Given the description of an element on the screen output the (x, y) to click on. 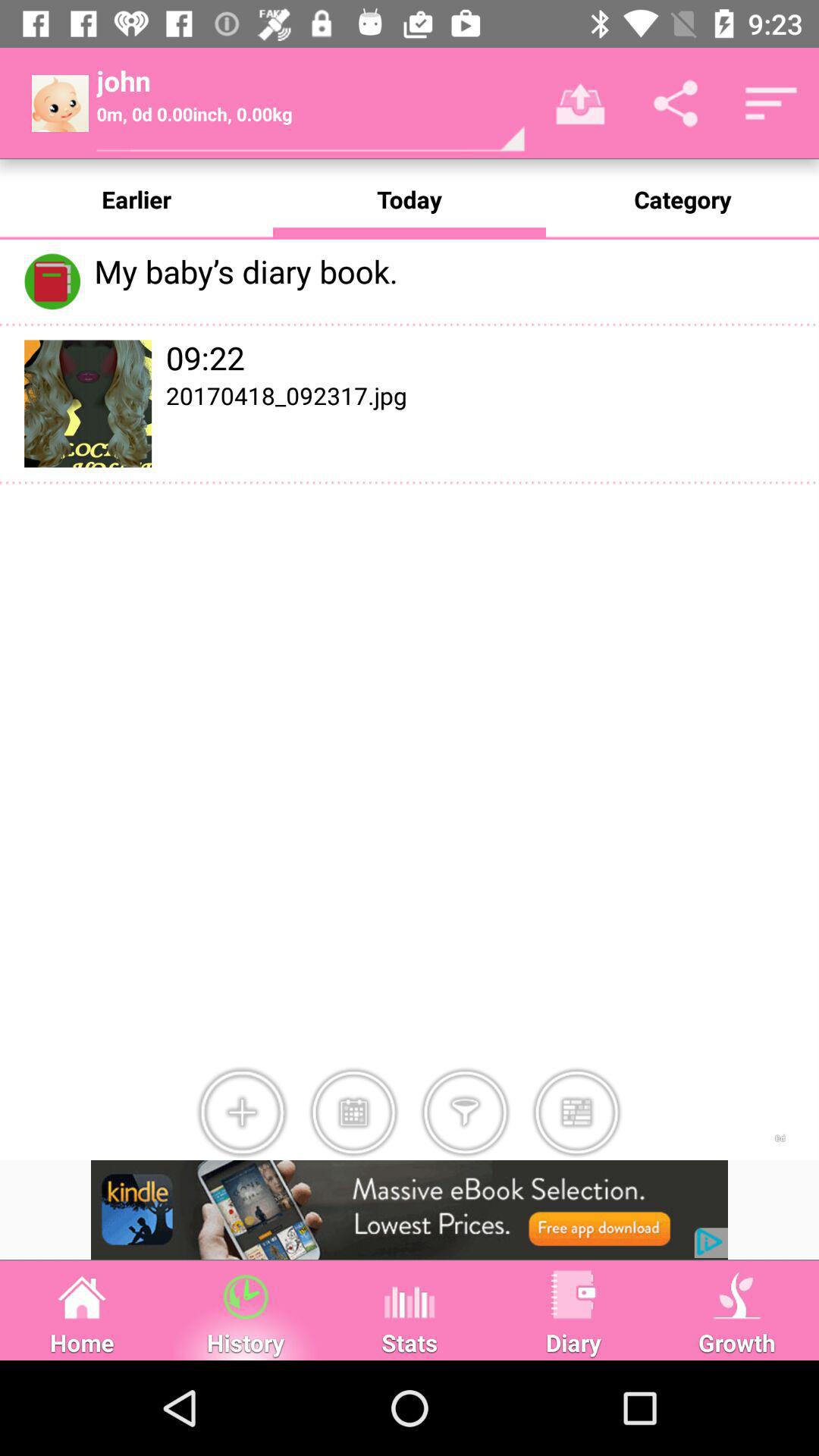
add diary book to playlist (353, 1112)
